Given the description of an element on the screen output the (x, y) to click on. 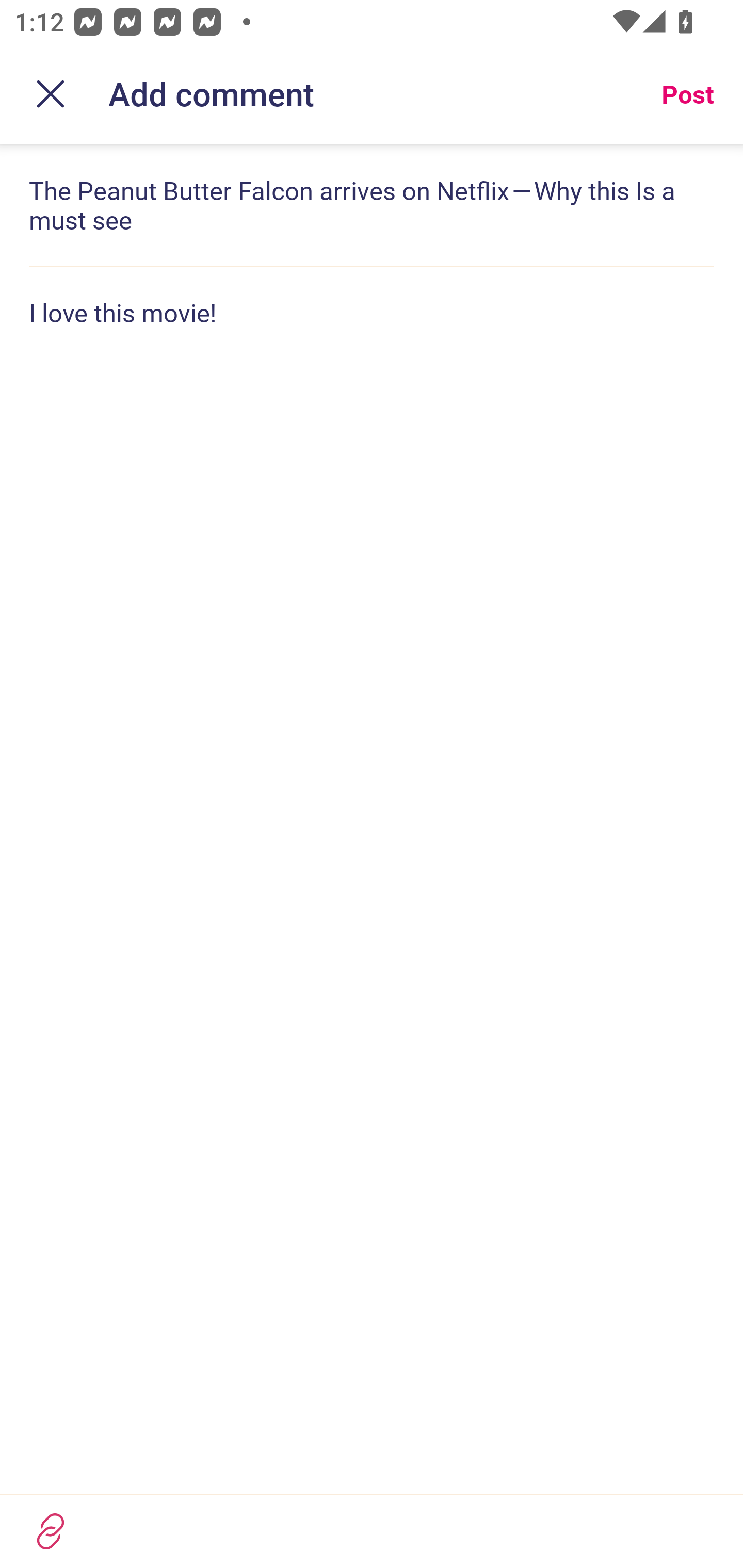
Close (50, 93)
Post (687, 94)
I love this movie! (371, 312)
Insert a link (50, 1530)
